Given the description of an element on the screen output the (x, y) to click on. 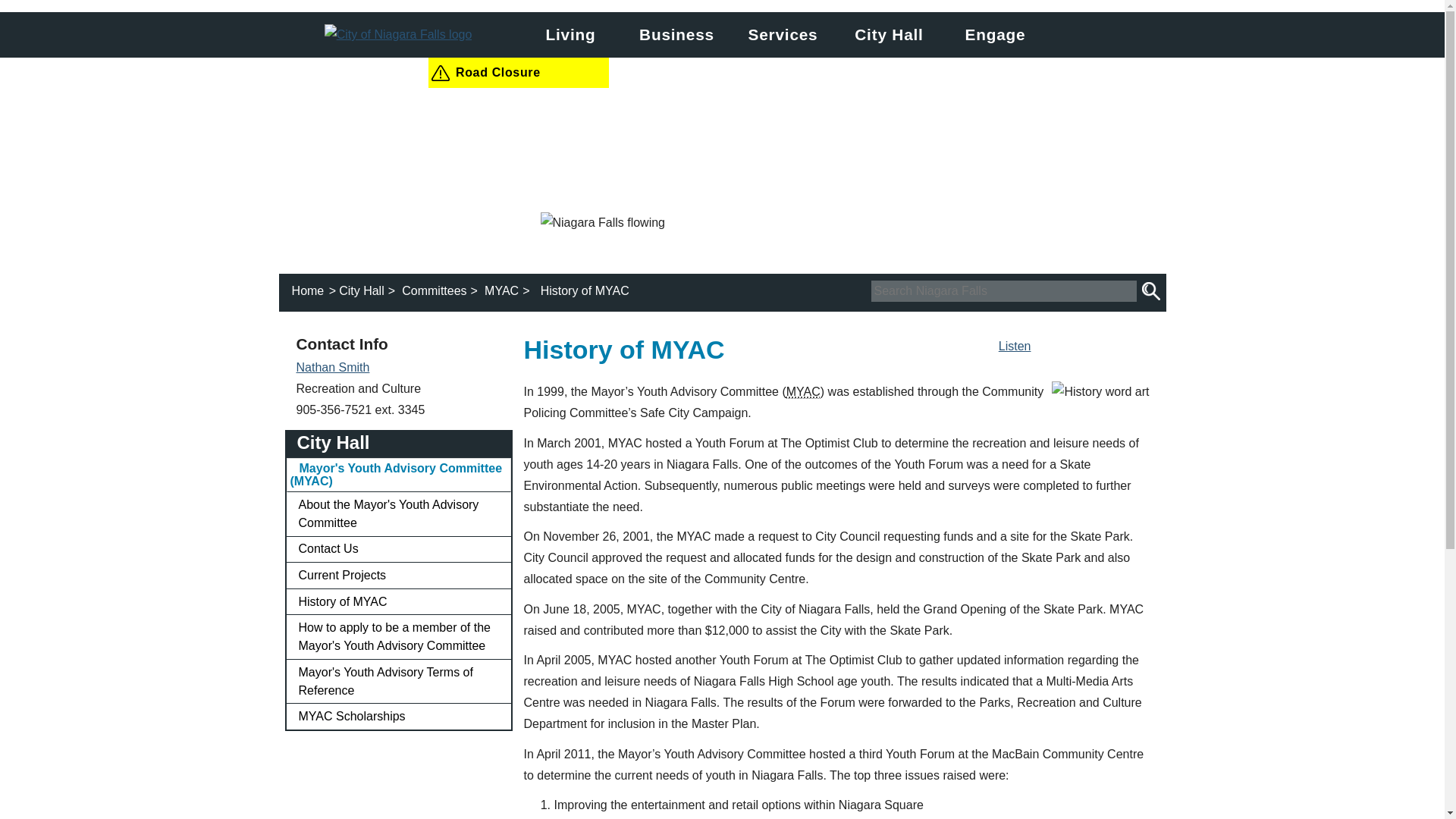
Listen to this page (1014, 345)
Mayor's Youth Advisory Committee (803, 391)
Services (782, 34)
Living (569, 34)
City Hall (888, 34)
Business (676, 34)
Skip to Navigation (725, 11)
Road Closure as of August 20, 2024 9:15 AM (518, 72)
